Given the description of an element on the screen output the (x, y) to click on. 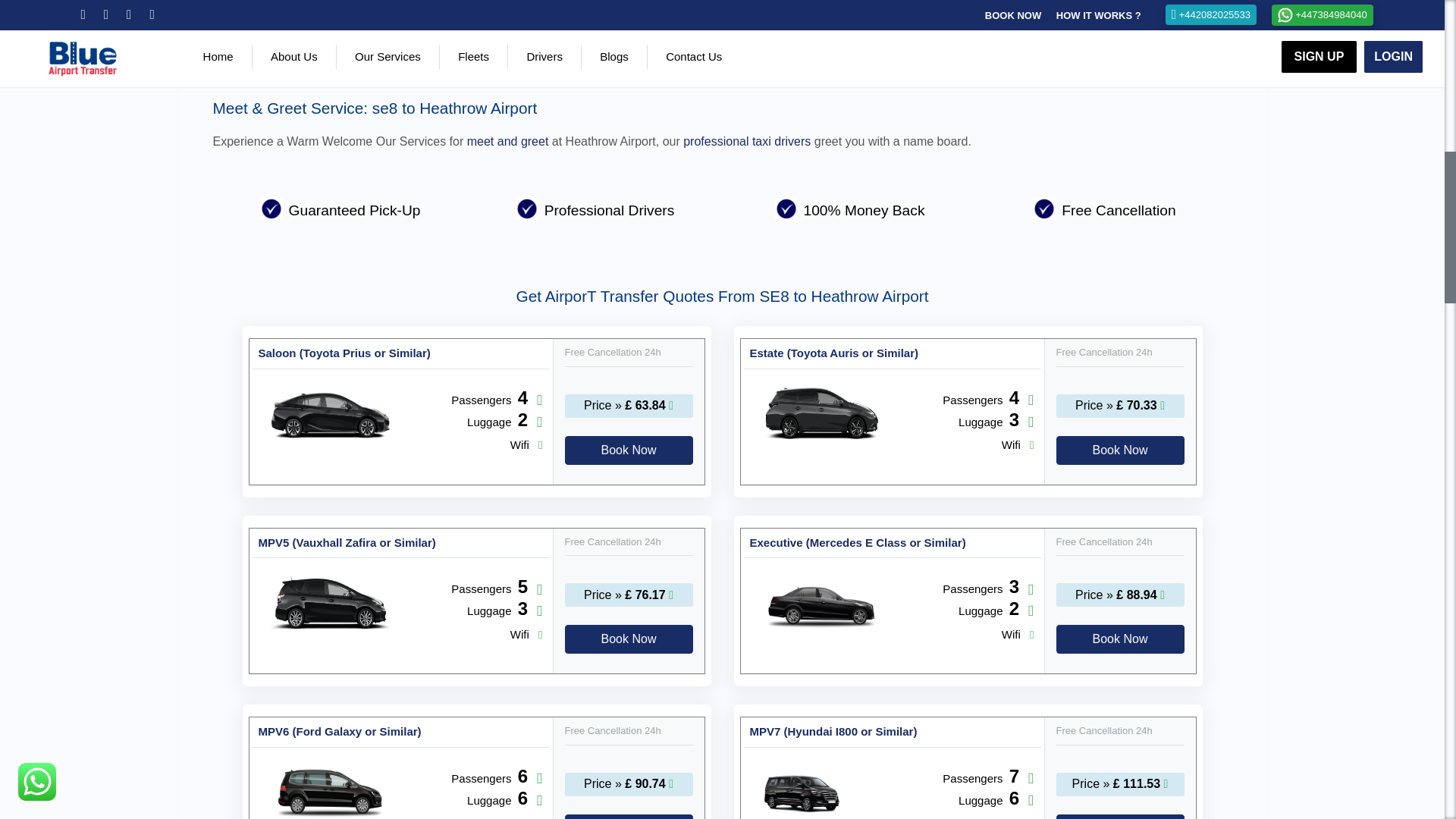
Book Now (1121, 638)
Book Now (628, 816)
professional taxi drivers (746, 141)
Book Now (1121, 816)
meet and greet (507, 141)
Book Now (628, 450)
Book Now (1121, 450)
Book Now (628, 638)
